Given the description of an element on the screen output the (x, y) to click on. 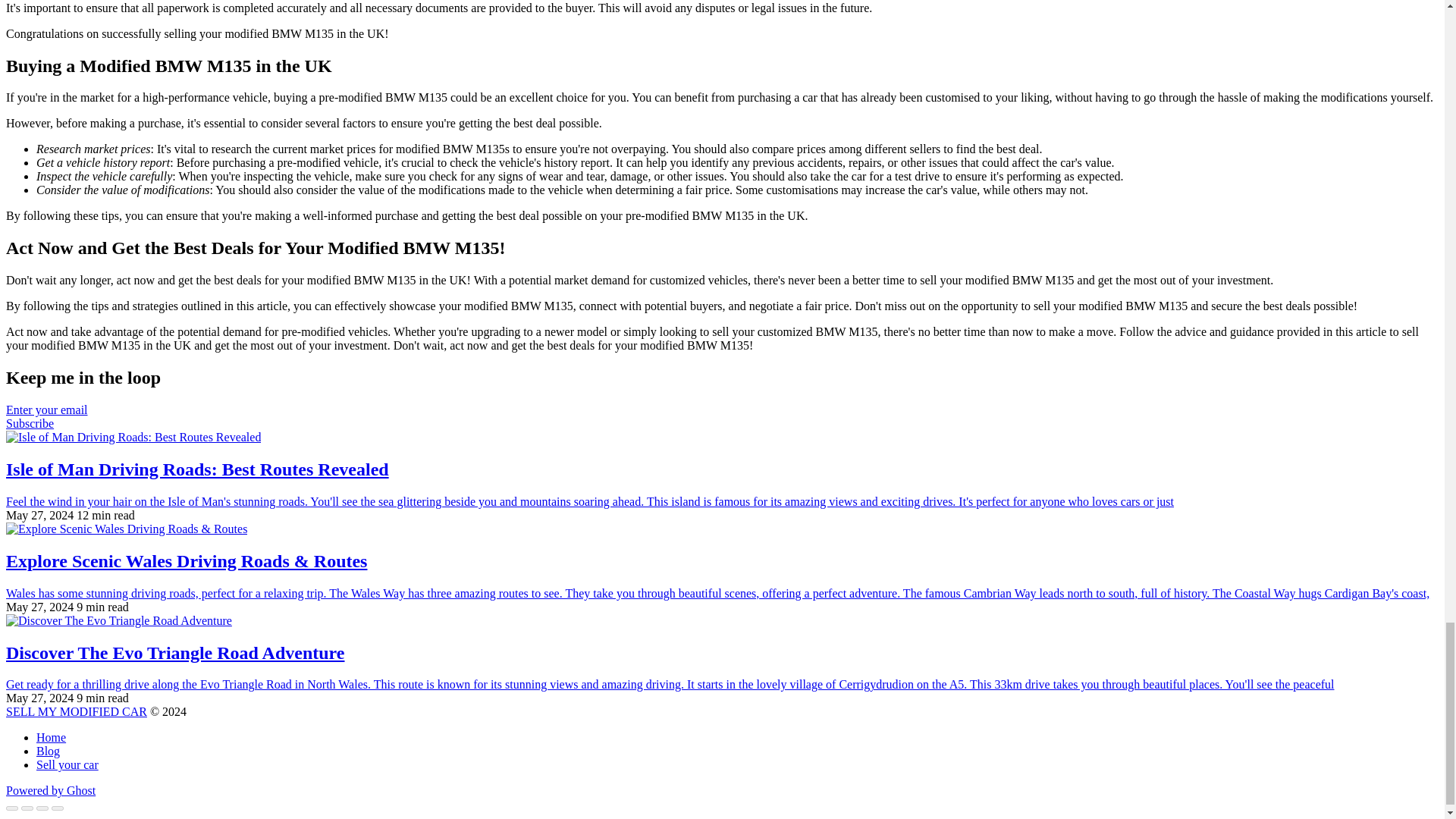
Powered by Ghost (50, 789)
Blog (47, 750)
Home (50, 737)
Sell your car (67, 764)
Share (27, 807)
SELL MY MODIFIED CAR (76, 711)
Toggle fullscreen (42, 807)
